Given the description of an element on the screen output the (x, y) to click on. 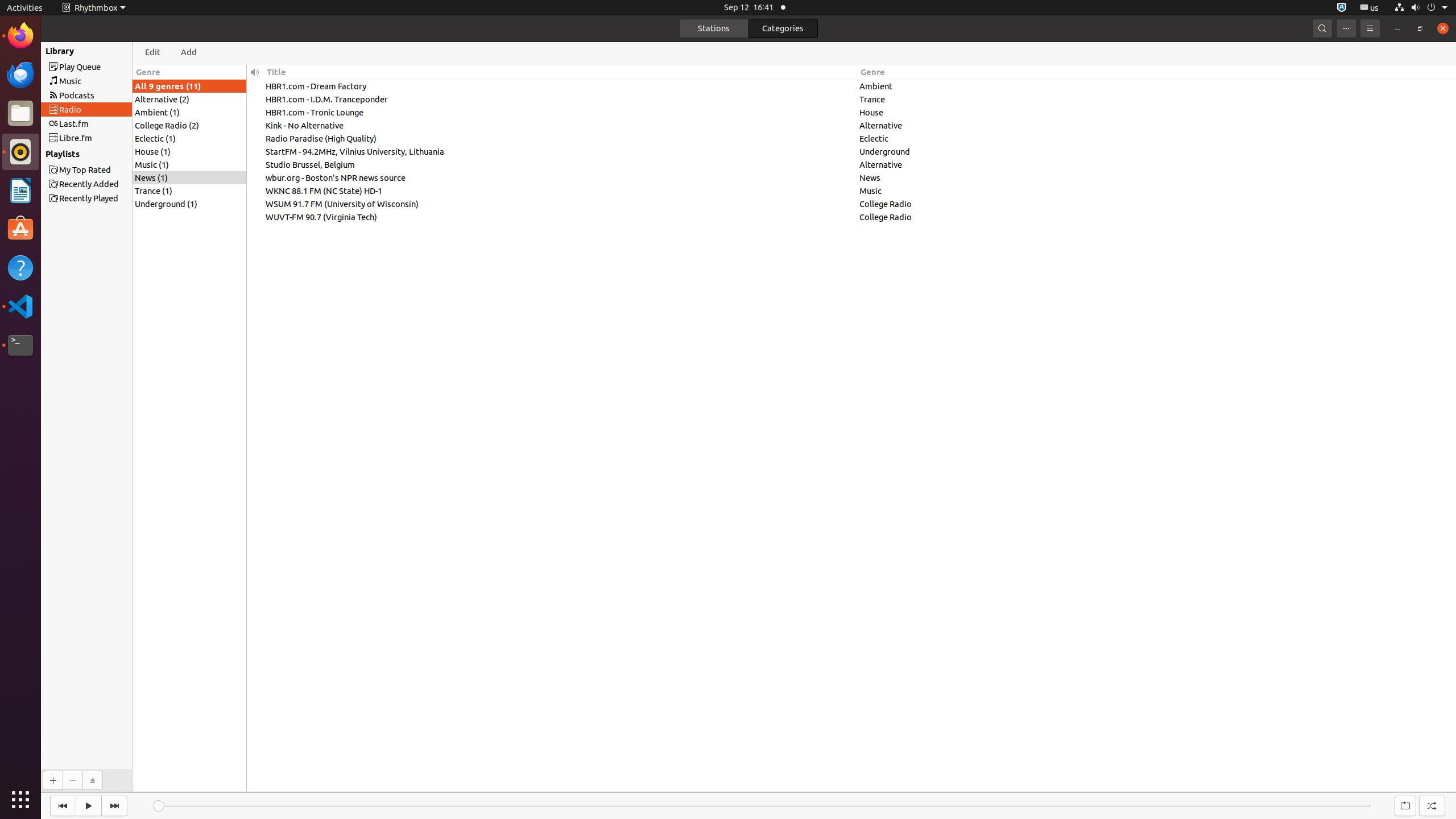
li.txt Element type: label (146, 50)
Studio Brussel, Belgium Element type: table-cell (559, 164)
Close Element type: push-button (1442, 27)
Eclectic (1) Element type: table-cell (189, 138)
